Given the description of an element on the screen output the (x, y) to click on. 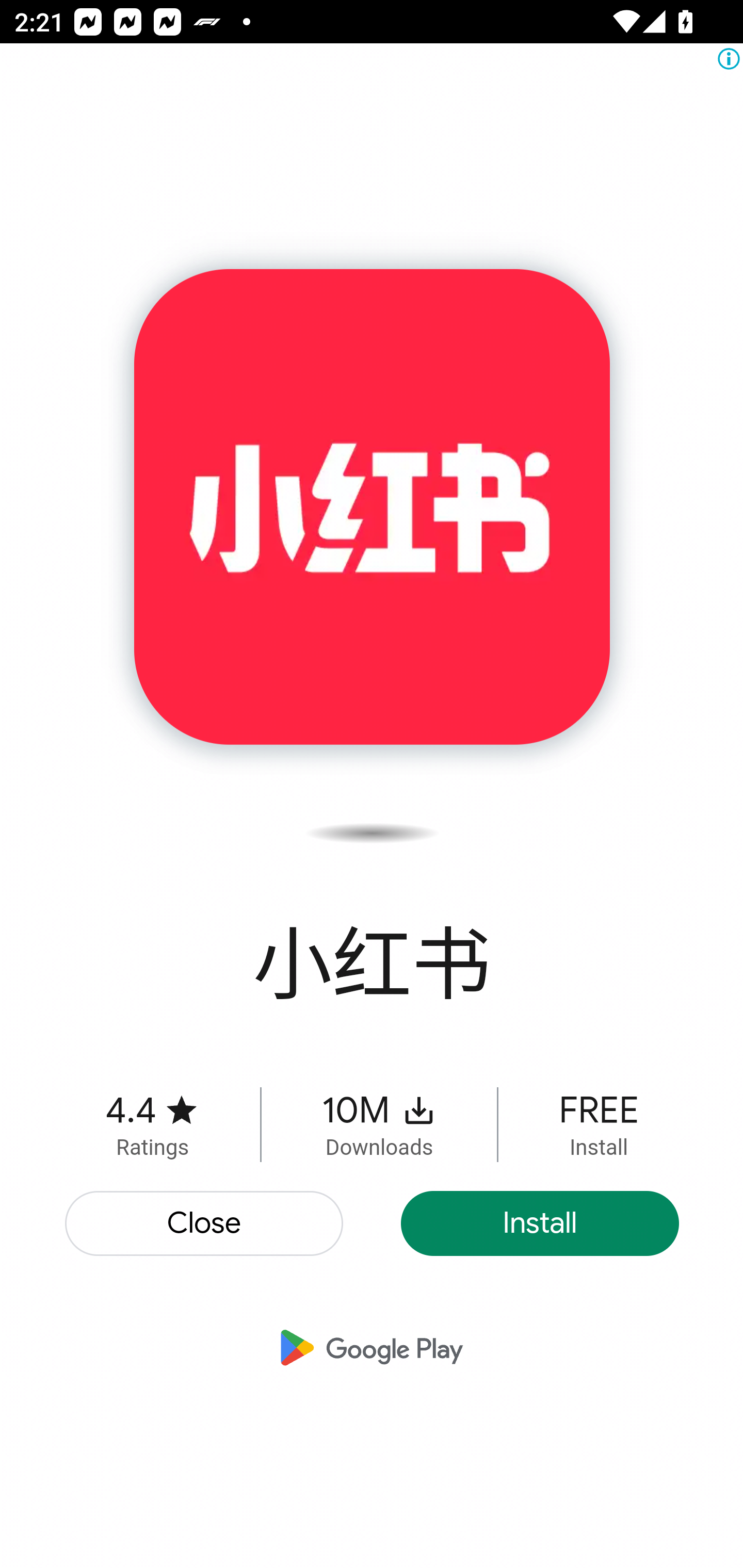
Close (204, 1222)
Install (539, 1222)
